Given the description of an element on the screen output the (x, y) to click on. 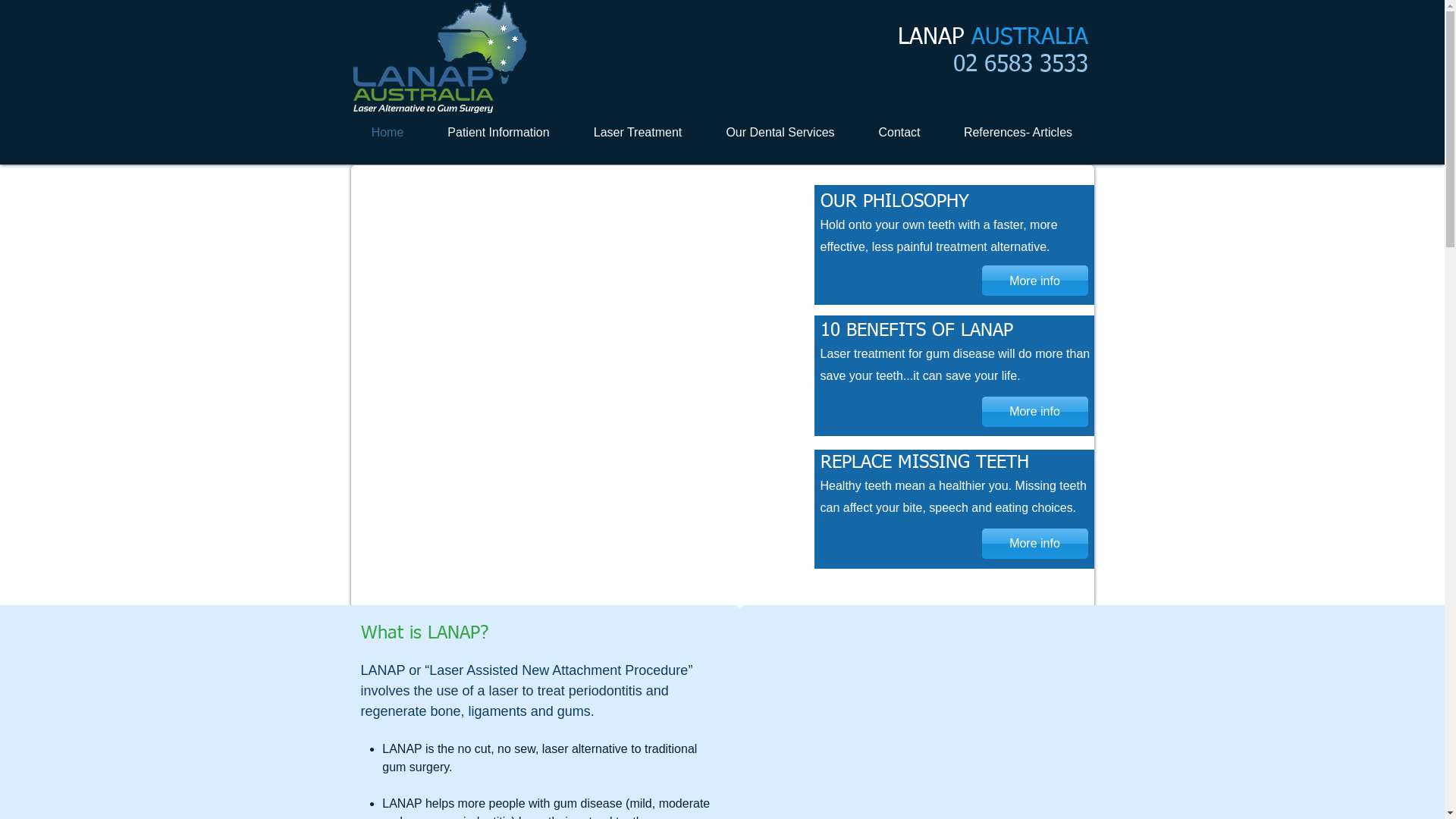
Laser Treatment Element type: text (637, 132)
Home Element type: text (386, 132)
External YouTube Element type: hover (581, 376)
More info Element type: text (1034, 280)
More info Element type: text (1034, 543)
Our Dental Services Element type: text (779, 132)
References- Articles Element type: text (1017, 132)
Patient Information Element type: text (498, 132)
Contact Element type: text (899, 132)
LANAP AUSTRALIA Element type: text (992, 37)
LANAP_logo_pngwhite tagline Trans.png Element type: hover (440, 56)
More info Element type: text (1034, 411)
